Given the description of an element on the screen output the (x, y) to click on. 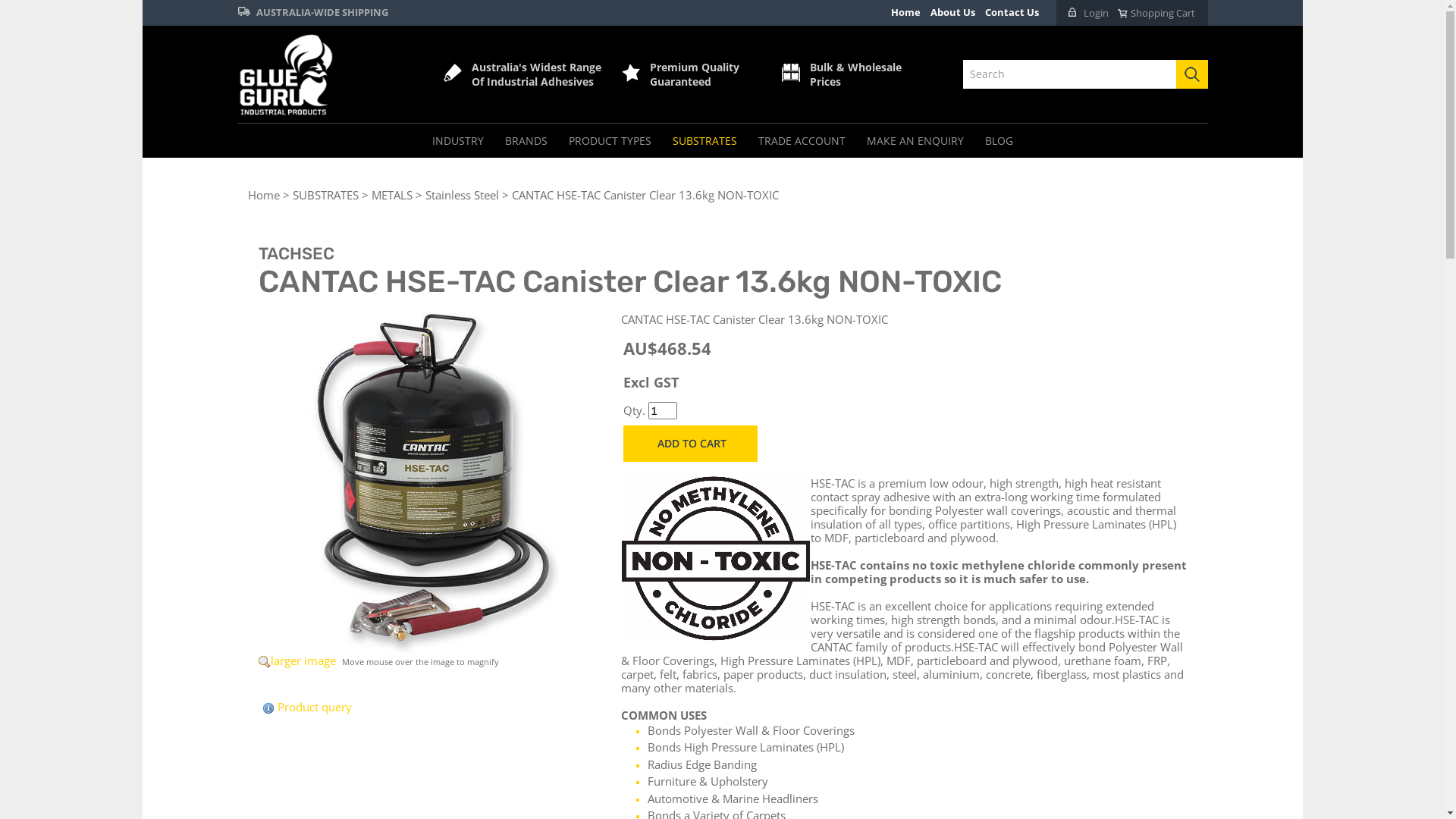
BRANDS Element type: text (526, 140)
larger image Element type: text (302, 660)
PRODUCT TYPES Element type: text (609, 140)
BLOG Element type: text (998, 140)
Add To Cart Element type: text (690, 443)
SUBSTRATES Element type: text (703, 140)
Home Element type: text (263, 194)
MAKE AN ENQUIRY Element type: text (914, 140)
Search Element type: text (1071, 73)
METALS Element type: text (391, 194)
TRADE ACCOUNT Element type: text (801, 140)
Contact Us Element type: text (1011, 11)
Product query Element type: text (314, 706)
Search Element type: text (1191, 73)
non toxic stamp-376 Element type: hover (714, 558)
INDUSTRY Element type: text (457, 140)
SUBSTRATES Element type: text (325, 194)
About Us Element type: text (952, 11)
Stainless Steel Element type: text (461, 194)
Login Element type: text (1088, 12)
Home Element type: text (905, 11)
